Given the description of an element on the screen output the (x, y) to click on. 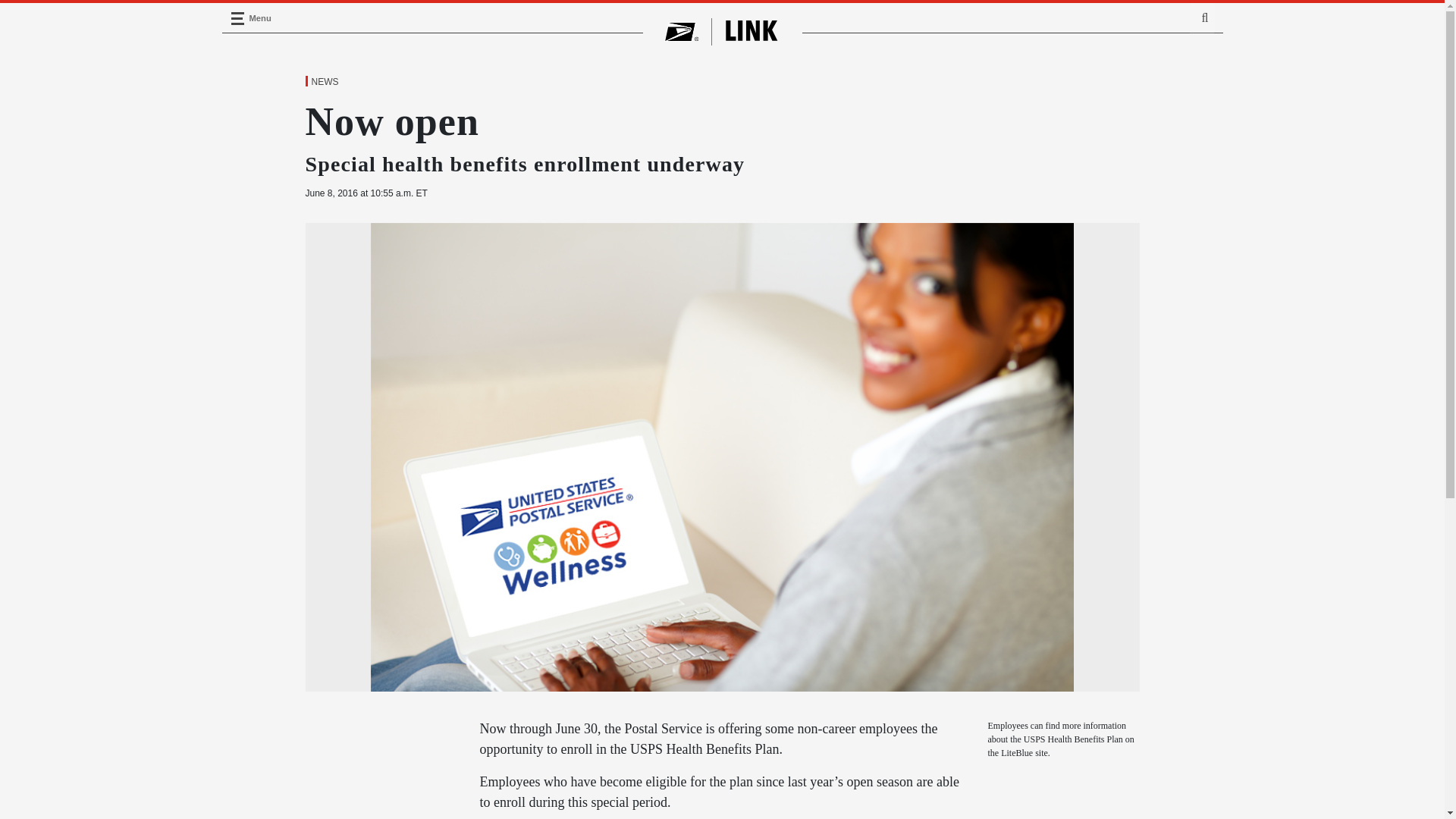
Menu (237, 18)
NEWS (323, 81)
